Given the description of an element on the screen output the (x, y) to click on. 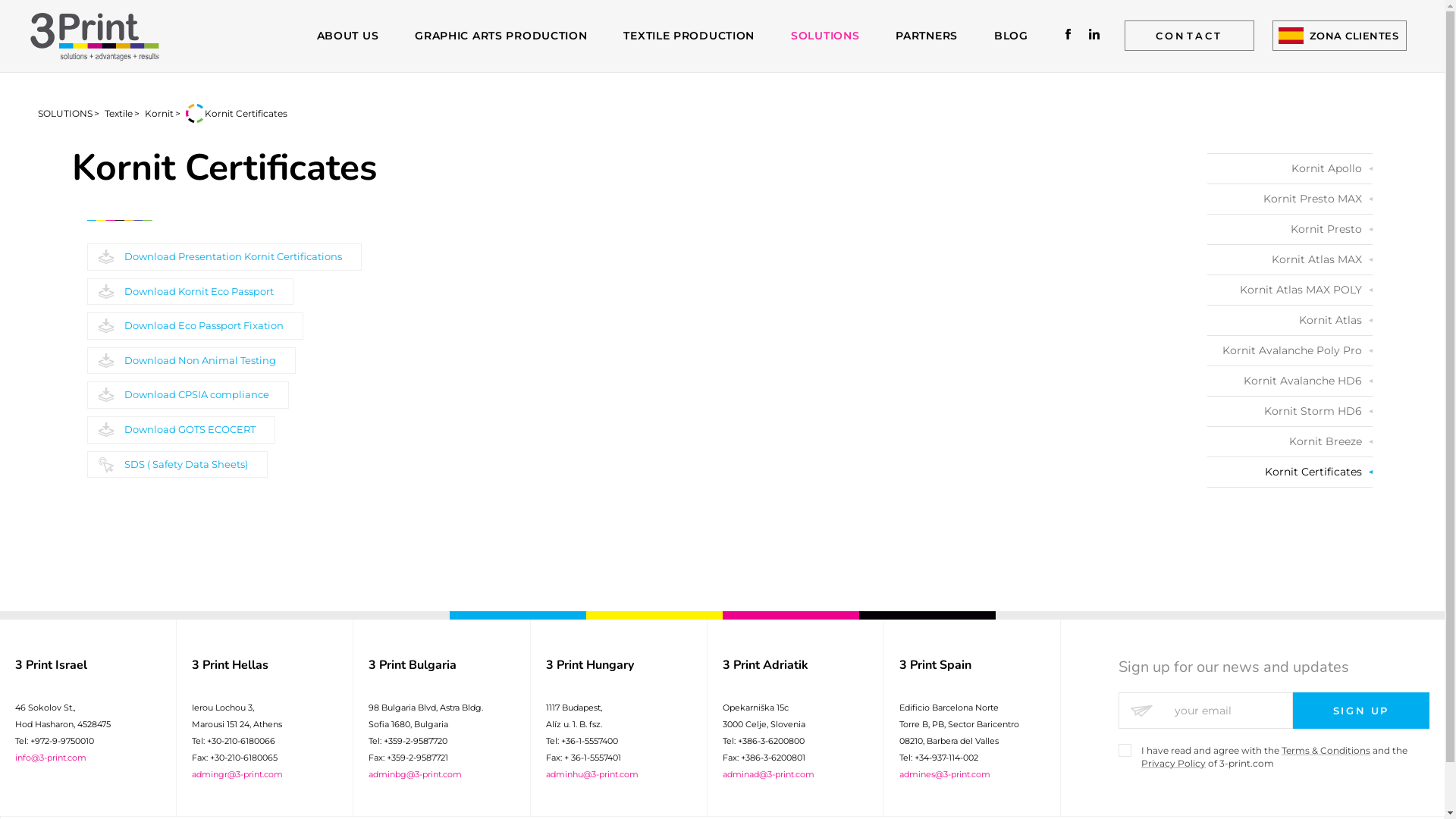
SOLUTIONS Element type: text (824, 35)
SIGN UP Element type: text (1360, 710)
Kornit Avalanche Poly Pro Element type: text (1289, 350)
SDS ( Safety Data Sheets) Element type: text (177, 464)
Kornit Atlas MAX POLY Element type: text (1289, 289)
TEXTILE PRODUCTION Element type: text (688, 35)
ZONA CLIENTES Element type: text (1339, 35)
ABOUT US Element type: text (347, 35)
Join us on Facebook Element type: text (1068, 34)
Kornit Certificates Element type: text (1289, 471)
Kornit Atlas Element type: text (1289, 320)
Download Kornit Eco Passport Element type: text (190, 291)
Download CPSIA compliance Element type: text (187, 394)
Download Eco Passport Fixation Element type: text (195, 325)
SOLUTIONS Element type: text (64, 113)
Kornit Atlas MAX Element type: text (1289, 259)
Textile Element type: text (118, 113)
Privacy Policy Element type: text (1173, 762)
Kornit Storm HD6 Element type: text (1289, 411)
adminhu@3-print.com Element type: text (592, 773)
adminbg@3-print.com Element type: text (414, 773)
Kornit Breeze Element type: text (1289, 441)
PARTNERS Element type: text (926, 35)
Kornit Certificates Element type: text (245, 113)
BLOG Element type: text (1011, 35)
Kornit Avalanche HD6 Element type: text (1289, 380)
Kornit Element type: text (158, 113)
Terms & Conditions Element type: text (1325, 750)
Download Presentation Kornit Certifications Element type: text (224, 256)
3 Print - solutions advantages results Element type: text (94, 36)
GRAPHIC ARTS PRODUCTION Element type: text (500, 35)
adminad@3-print.com Element type: text (768, 773)
CONTACT Element type: text (1189, 35)
Follow us on LinkedIn Element type: text (1093, 34)
Kornit Apollo Element type: text (1289, 168)
Kornit Presto MAX Element type: text (1289, 198)
admingr@3-print.com Element type: text (236, 773)
admines@3-print.com Element type: text (944, 773)
Kornit Presto Element type: text (1289, 229)
info@3-print.com Element type: text (50, 757)
Download GOTS ECOCERT Element type: text (181, 429)
Download Non Animal Testing Element type: text (191, 360)
